Given the description of an element on the screen output the (x, y) to click on. 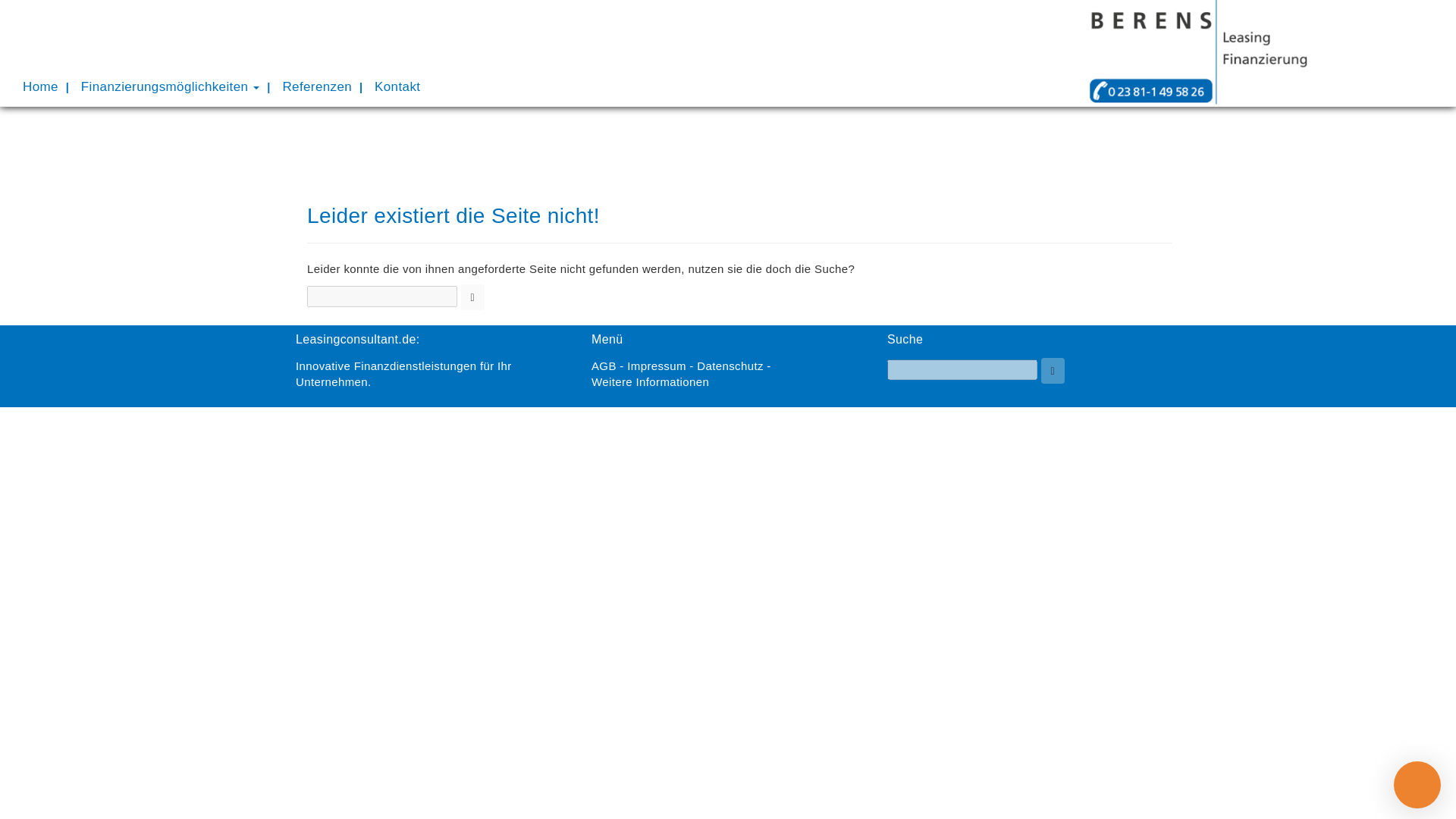
Home (40, 86)
Referenzen (316, 86)
Home (40, 86)
Referenzen (316, 86)
Kontakt (396, 86)
Kontakt (396, 86)
